Given the description of an element on the screen output the (x, y) to click on. 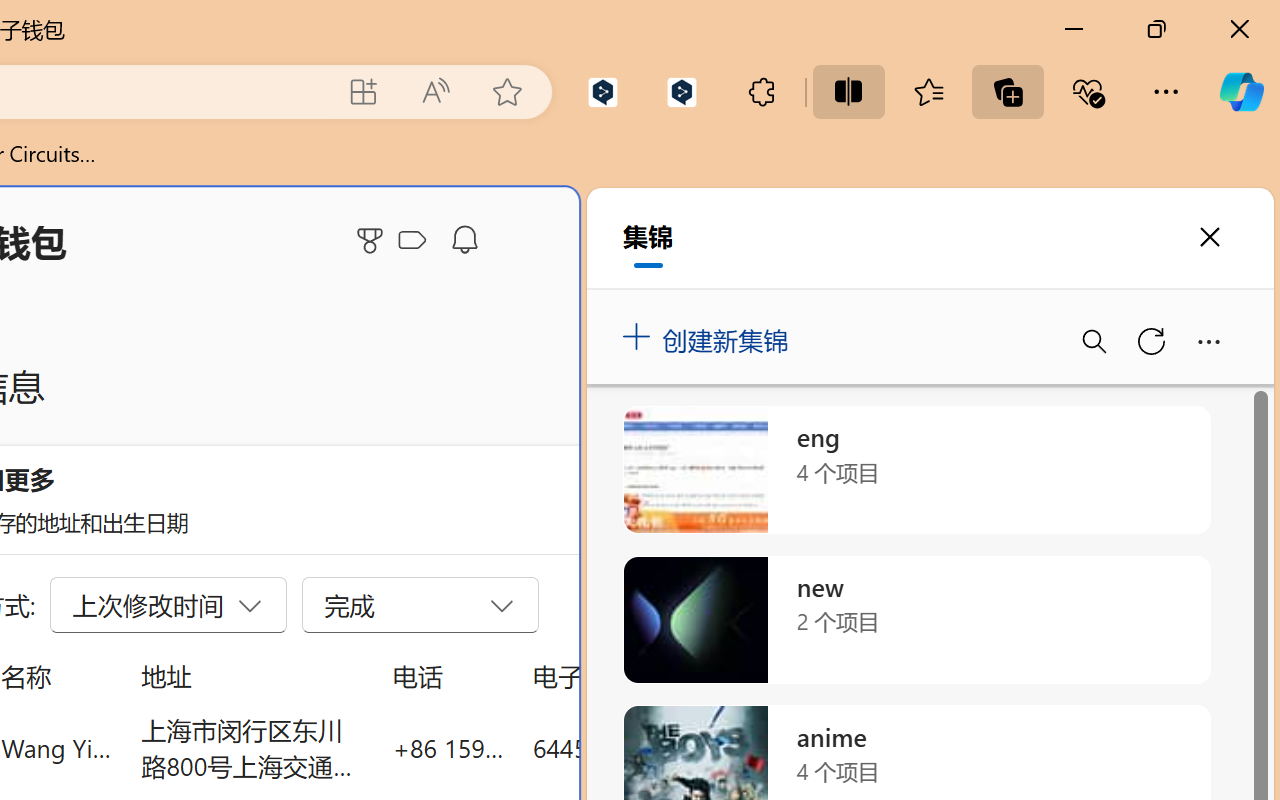
Microsoft Rewards (373, 240)
+86 159 0032 4640 (447, 747)
644553698@qq.com (644, 747)
